Given the description of an element on the screen output the (x, y) to click on. 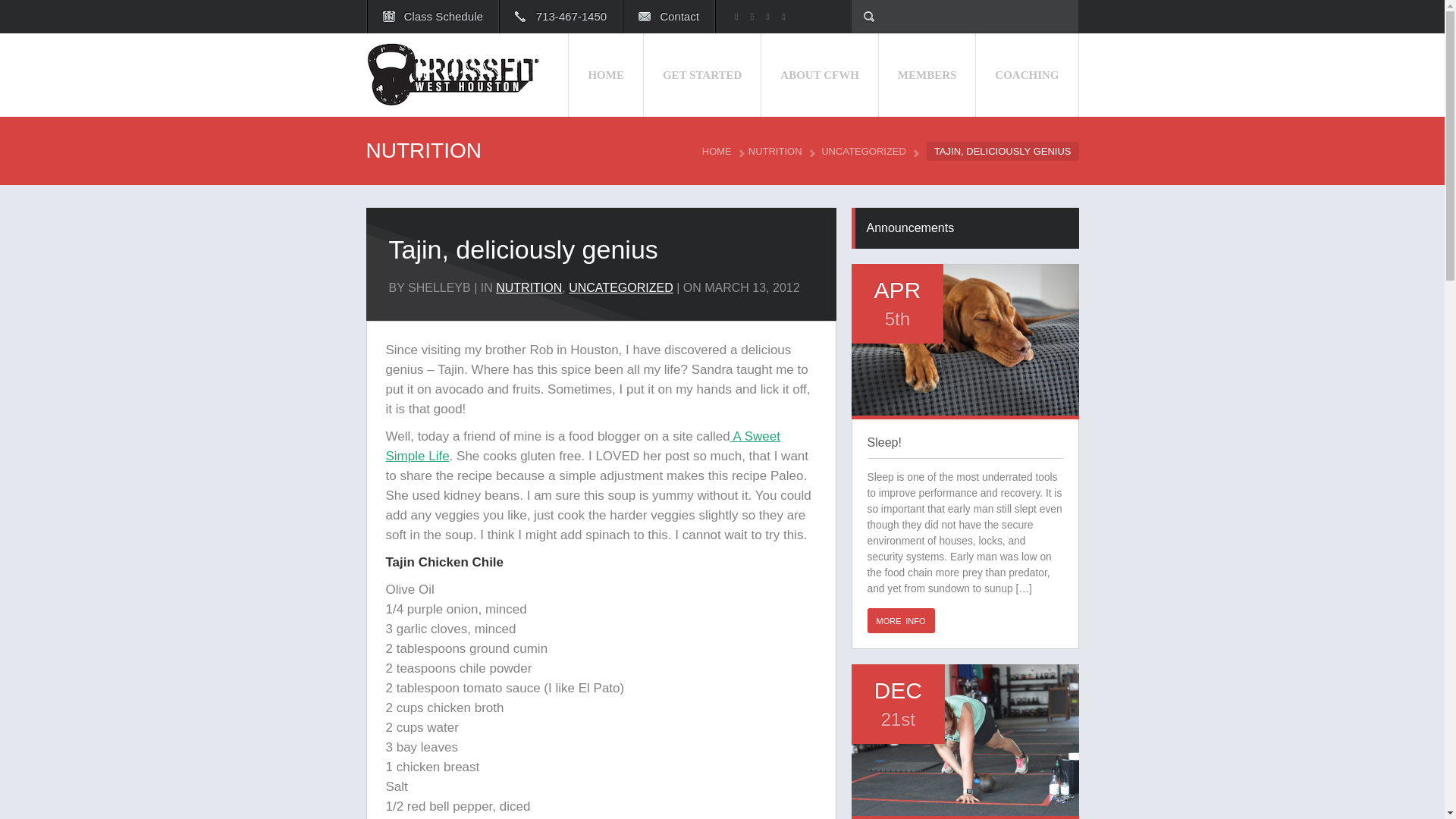
Class Schedule (431, 16)
GET STARTED (702, 75)
Contact (668, 16)
NUTRITION (529, 287)
Coaching (1026, 75)
HOME (721, 151)
ABOUT CFWH (819, 75)
Search (88, 16)
UNCATEGORIZED (867, 151)
COACHING (1026, 75)
